Given the description of an element on the screen output the (x, y) to click on. 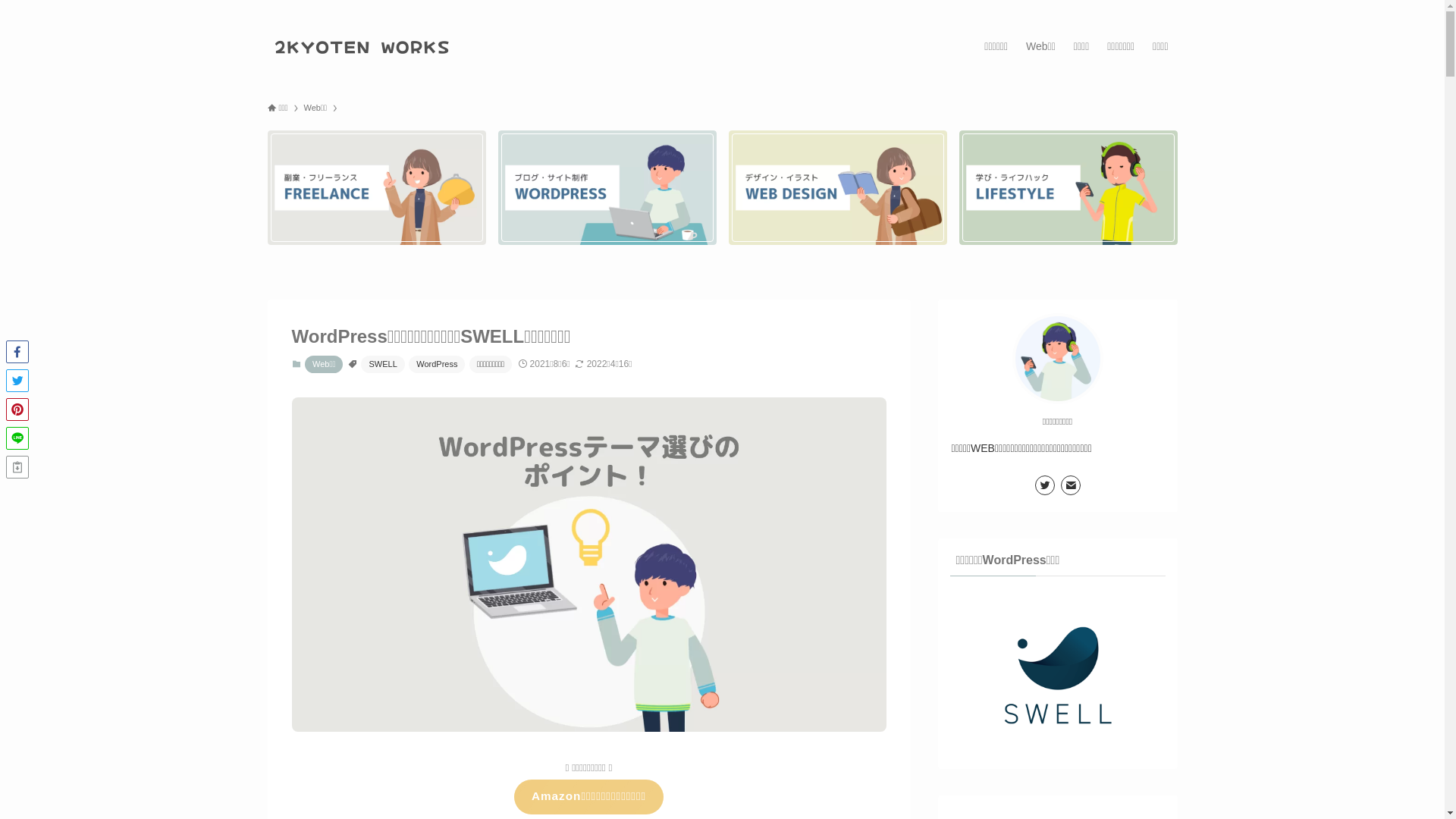
search Element type: text (921, 421)
2KYOTEN WORKS Element type: hover (361, 46)
SWELL Element type: text (382, 364)
WordPress Element type: text (436, 364)
